Given the description of an element on the screen output the (x, y) to click on. 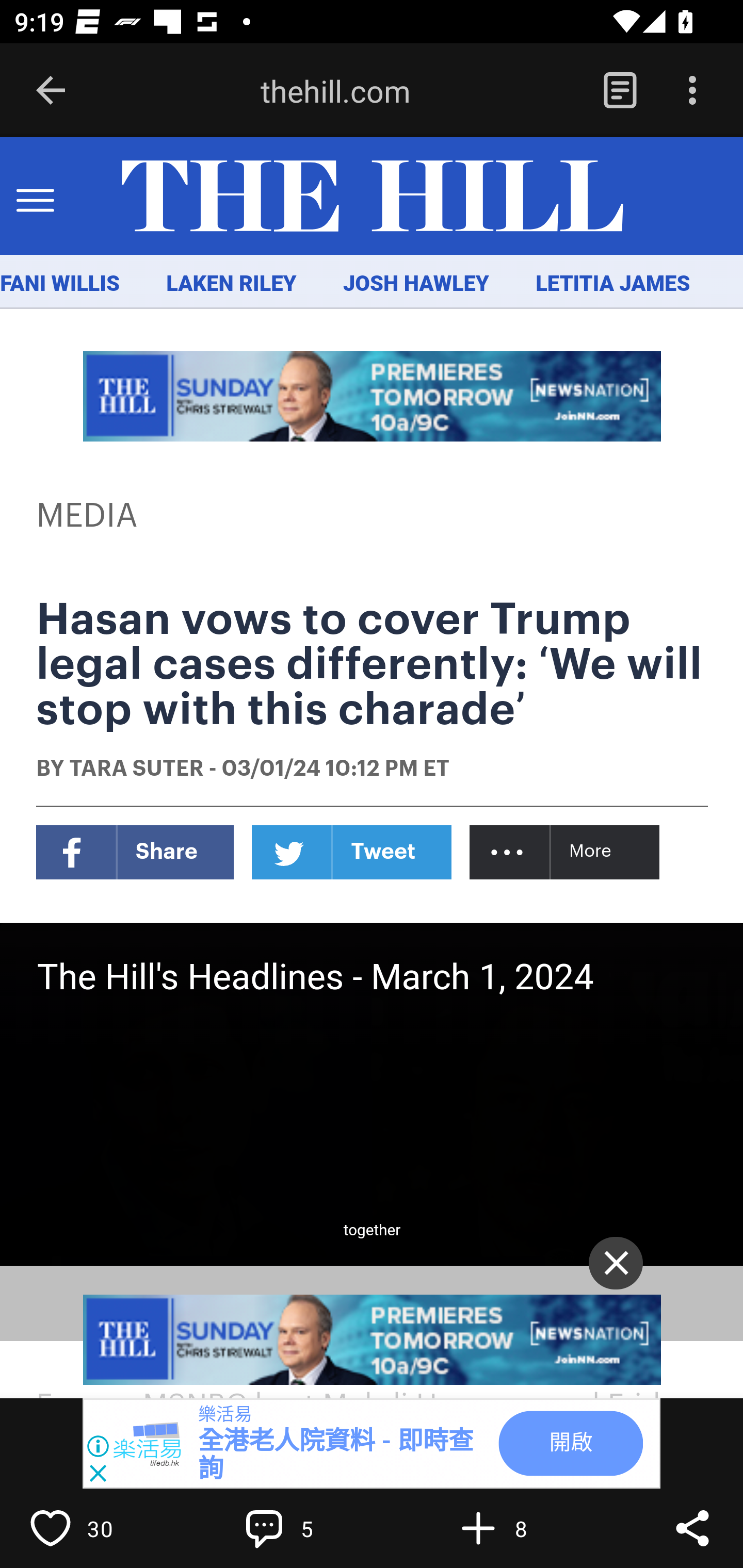
Back (50, 90)
Reader View (619, 90)
Options (692, 90)
Toggle Menu (34, 196)
TheHill.com (371, 196)
FANI WILLIS (60, 284)
LAKEN RILEY (231, 284)
JOSH HAWLEY (414, 284)
LETITIA JAMES (612, 284)
channel-finder (372, 395)
MEDIA (87, 516)
TARA SUTER (135, 769)
Facebook Share Facebook Share (135, 852)
Twitter Tweet Twitter Tweet (352, 852)
... More (565, 852)
✕ (616, 1262)
channel-finder (372, 1339)
開啟 樂活易 全港老人院資料 - 即時查 詢 開啟 樂活易 全港老人院資料 - 即時查
詢 (371, 1443)
Like 30 (93, 1528)
Write a comment… 5 (307, 1528)
Flip into Magazine 8 (521, 1528)
Share (692, 1528)
